Given the description of an element on the screen output the (x, y) to click on. 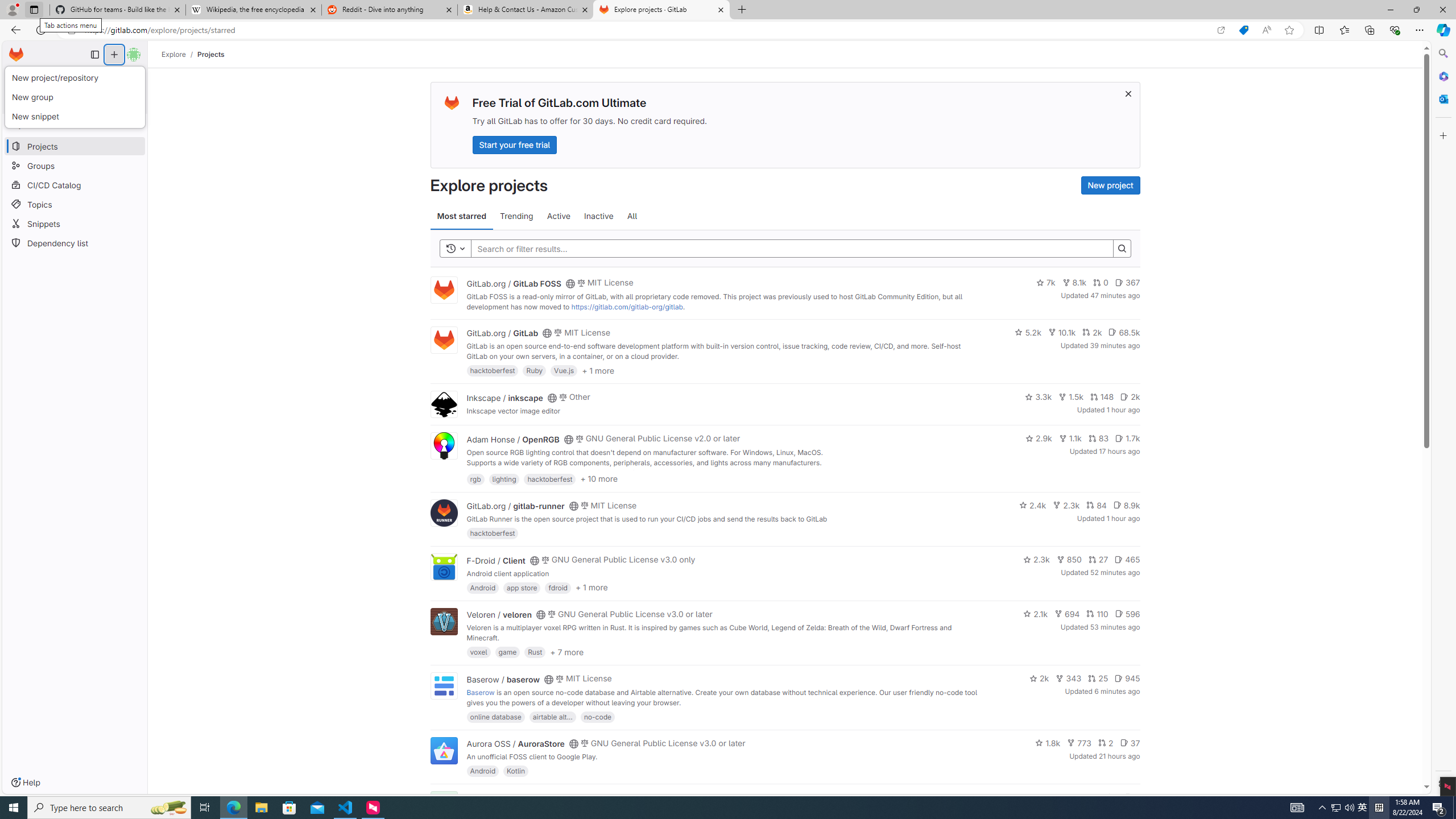
3.3k (1038, 396)
https://gitlab.com/gitlab-org/gitlab (626, 306)
37 (1129, 742)
Help (25, 782)
1 (1111, 797)
Reddit - Dive into anything (390, 9)
Inactive (598, 216)
GitLab.org / gitlab-runner (514, 506)
Primary navigation sidebar (94, 54)
GitLab.org / GitLab (501, 333)
143 (1085, 797)
